Given the description of an element on the screen output the (x, y) to click on. 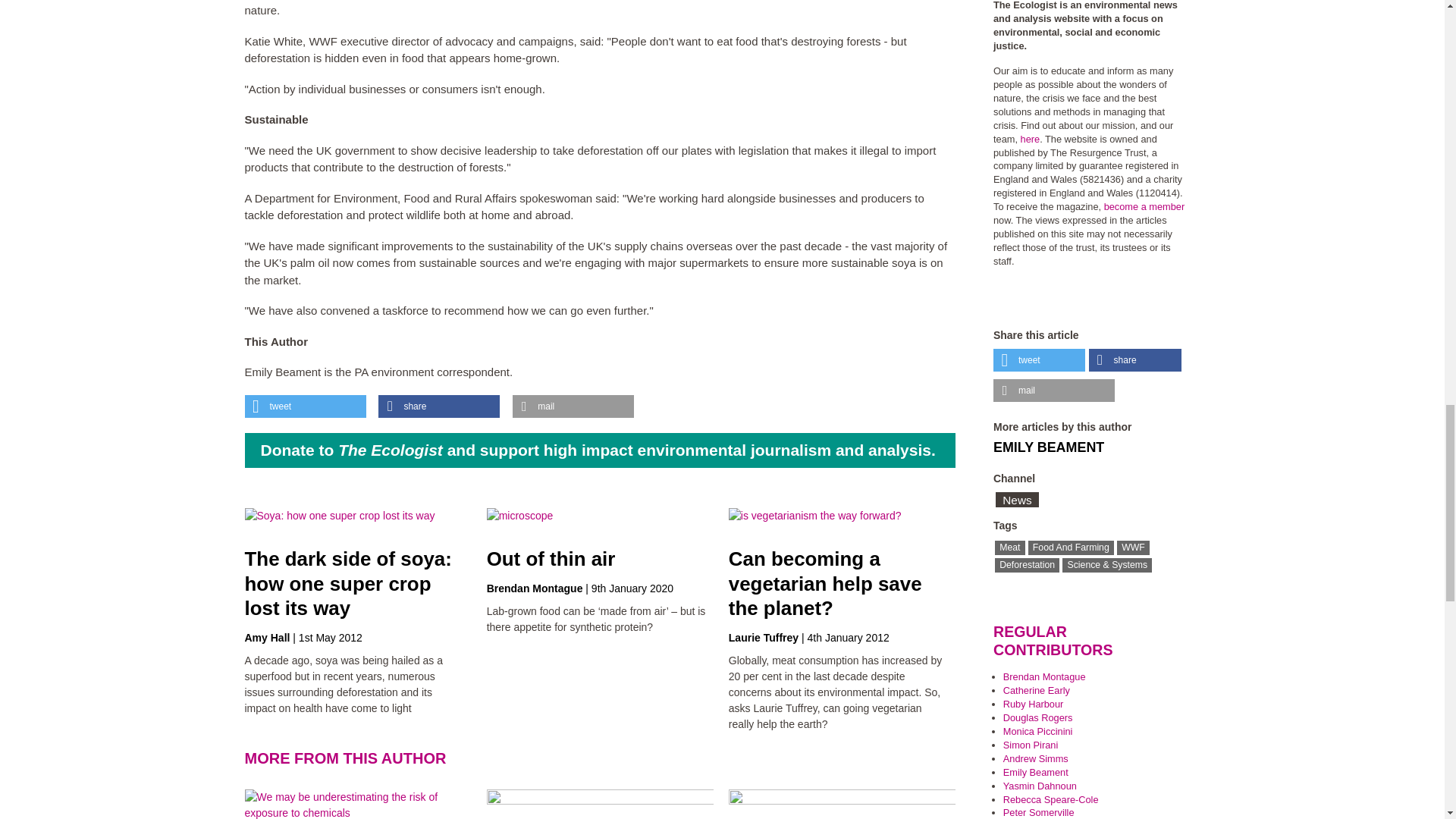
Share on Facebook (1134, 359)
We may be  underestimating the risk of exposure to chemicals (357, 804)
Share on Twitter (304, 405)
tweet (304, 405)
Wednesday, January 4, 2012 - 00:00 (848, 637)
Accelerating innovation: Collaboration for a net zero future (1010, 804)
Gravestones in Victoria Tower Gardens (768, 804)
Tuesday, May 1, 2012 - 00:00 (330, 637)
share (438, 405)
Send by email (1053, 390)
